Given the description of an element on the screen output the (x, y) to click on. 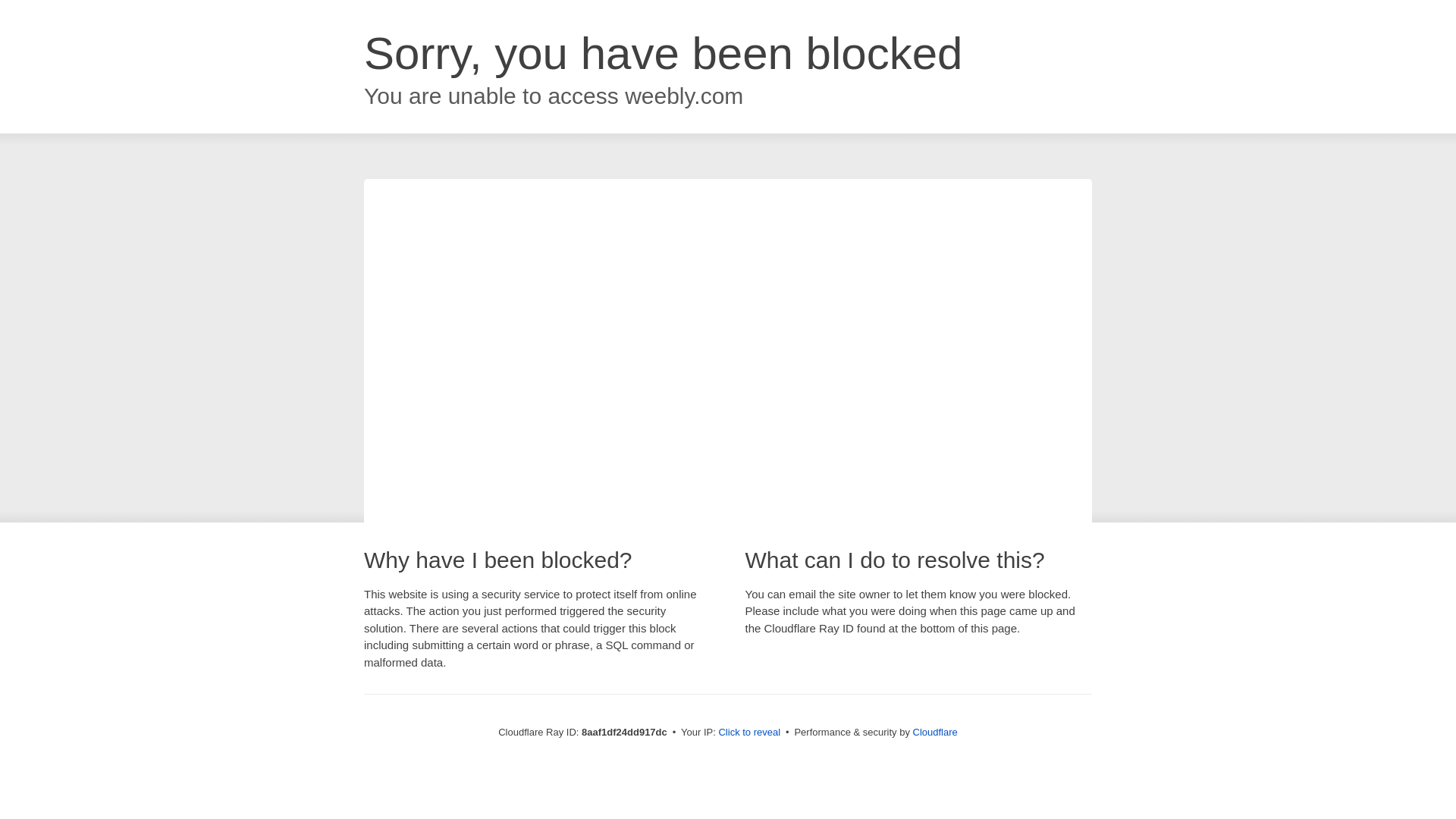
Cloudflare (935, 731)
Click to reveal (748, 732)
